Given the description of an element on the screen output the (x, y) to click on. 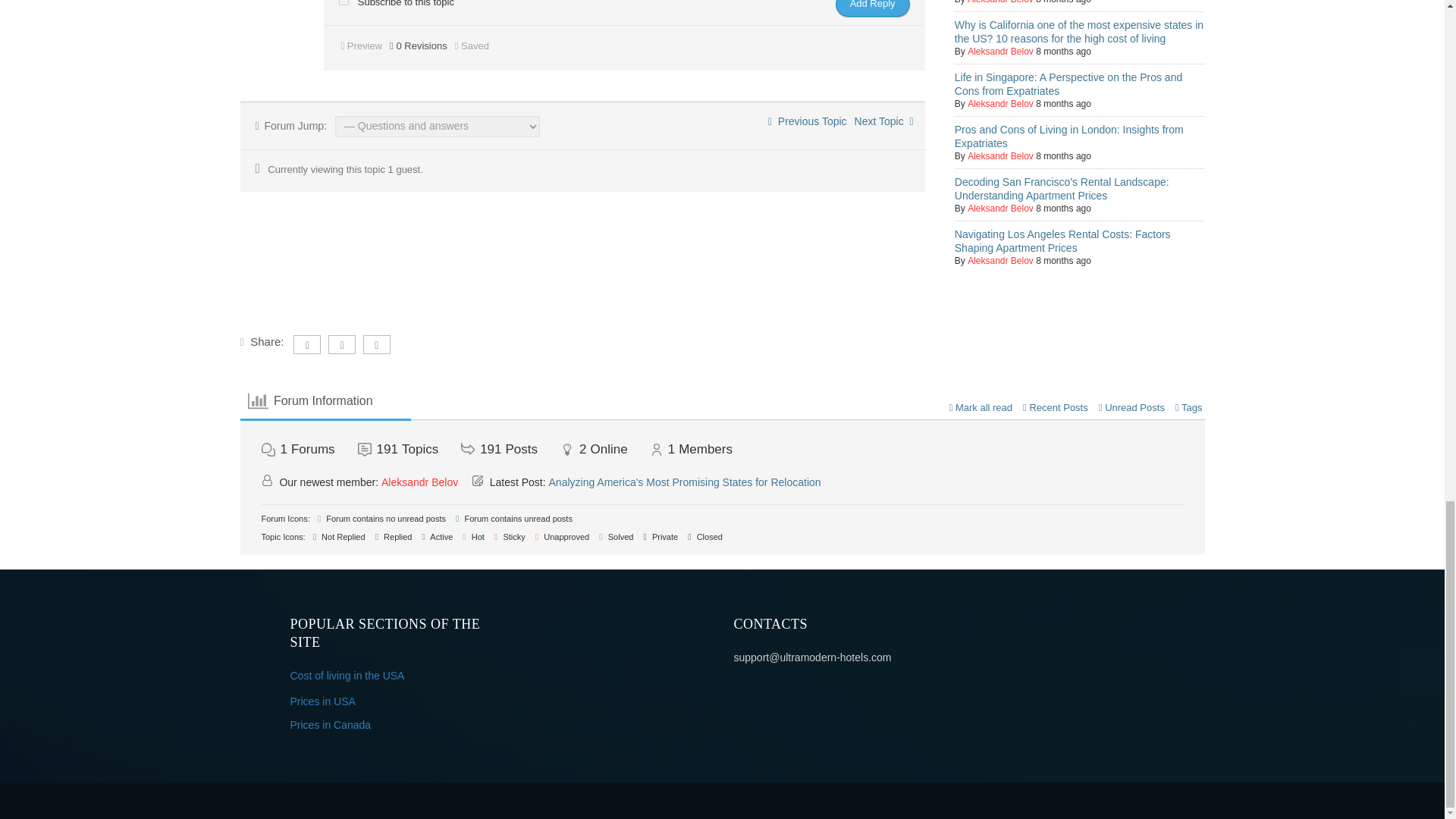
  Previous Topic (807, 121)
Add Reply (872, 8)
Next Topic   (884, 121)
1 (342, 2)
Add Reply (872, 8)
